Given the description of an element on the screen output the (x, y) to click on. 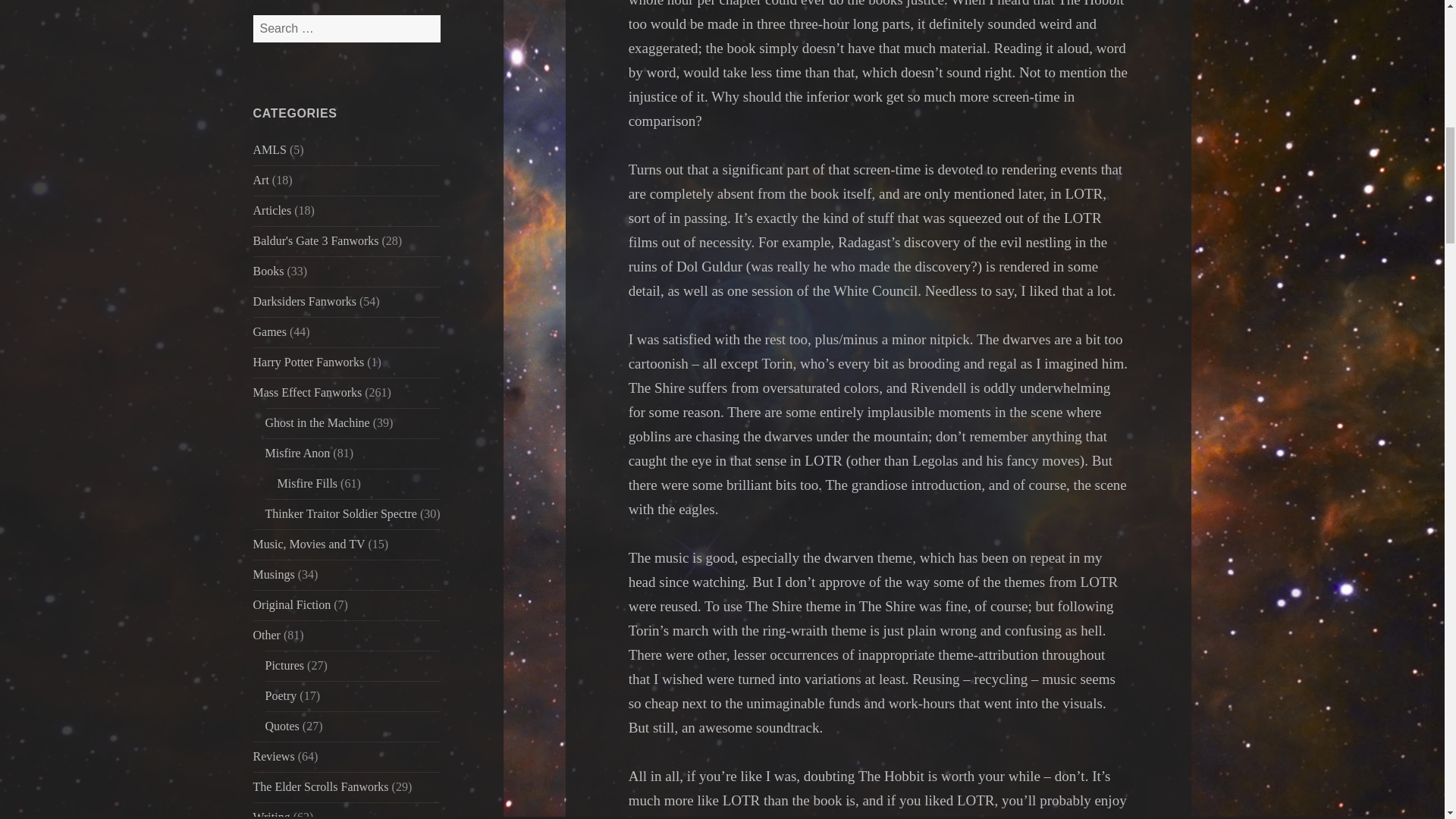
Musings (274, 574)
Misfire Anon (297, 452)
Books (268, 270)
Pictures (284, 665)
Games (269, 331)
Articles (272, 210)
Baldur's Gate 3 Fanworks (315, 240)
Ghost in the Machine (316, 422)
Mass Effect Fanworks (307, 391)
Misfire Fills (307, 482)
Music, Movies and TV (309, 543)
Other (267, 634)
Art (261, 179)
